Given the description of an element on the screen output the (x, y) to click on. 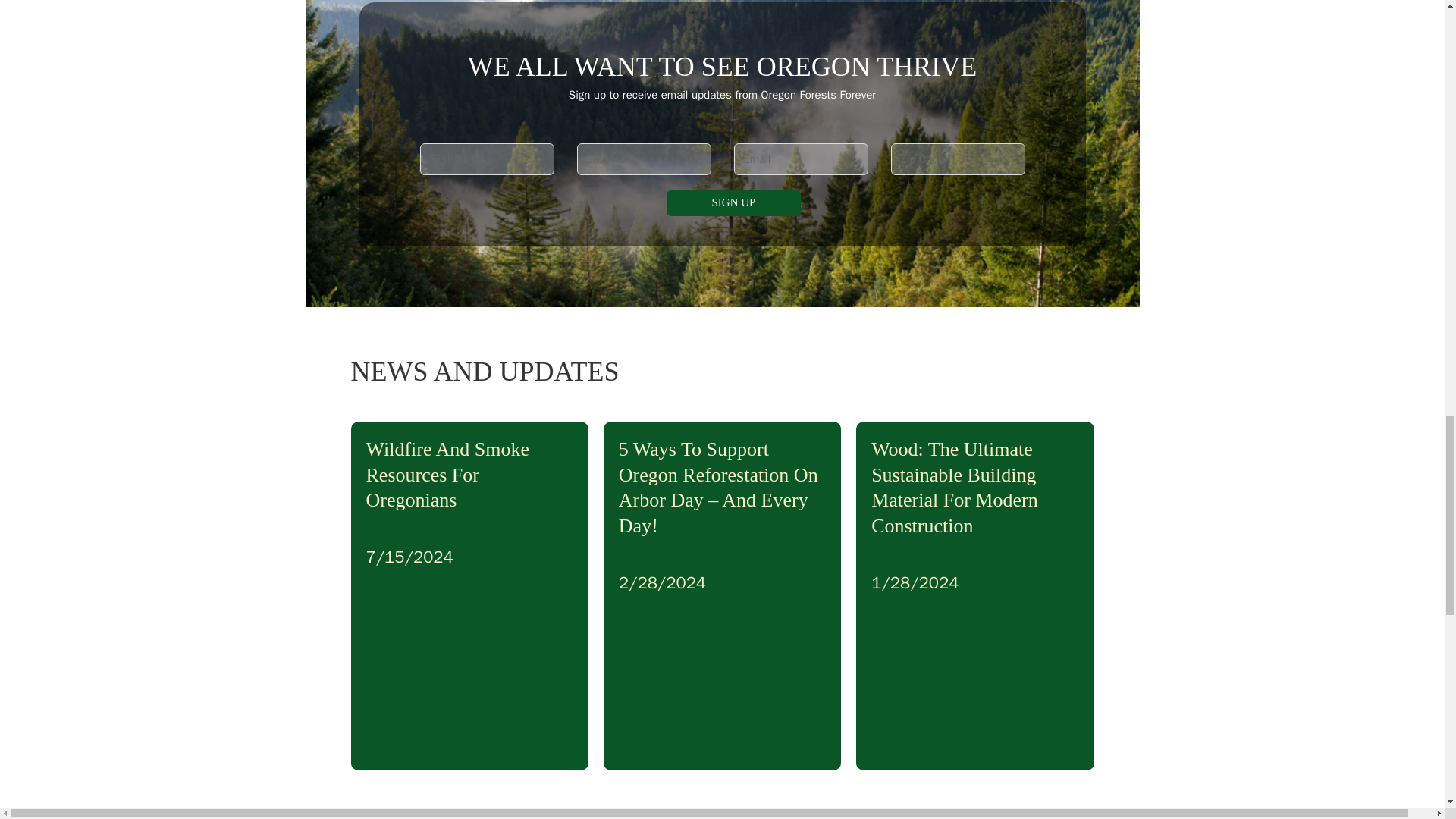
SIGN UP (733, 203)
